Given the description of an element on the screen output the (x, y) to click on. 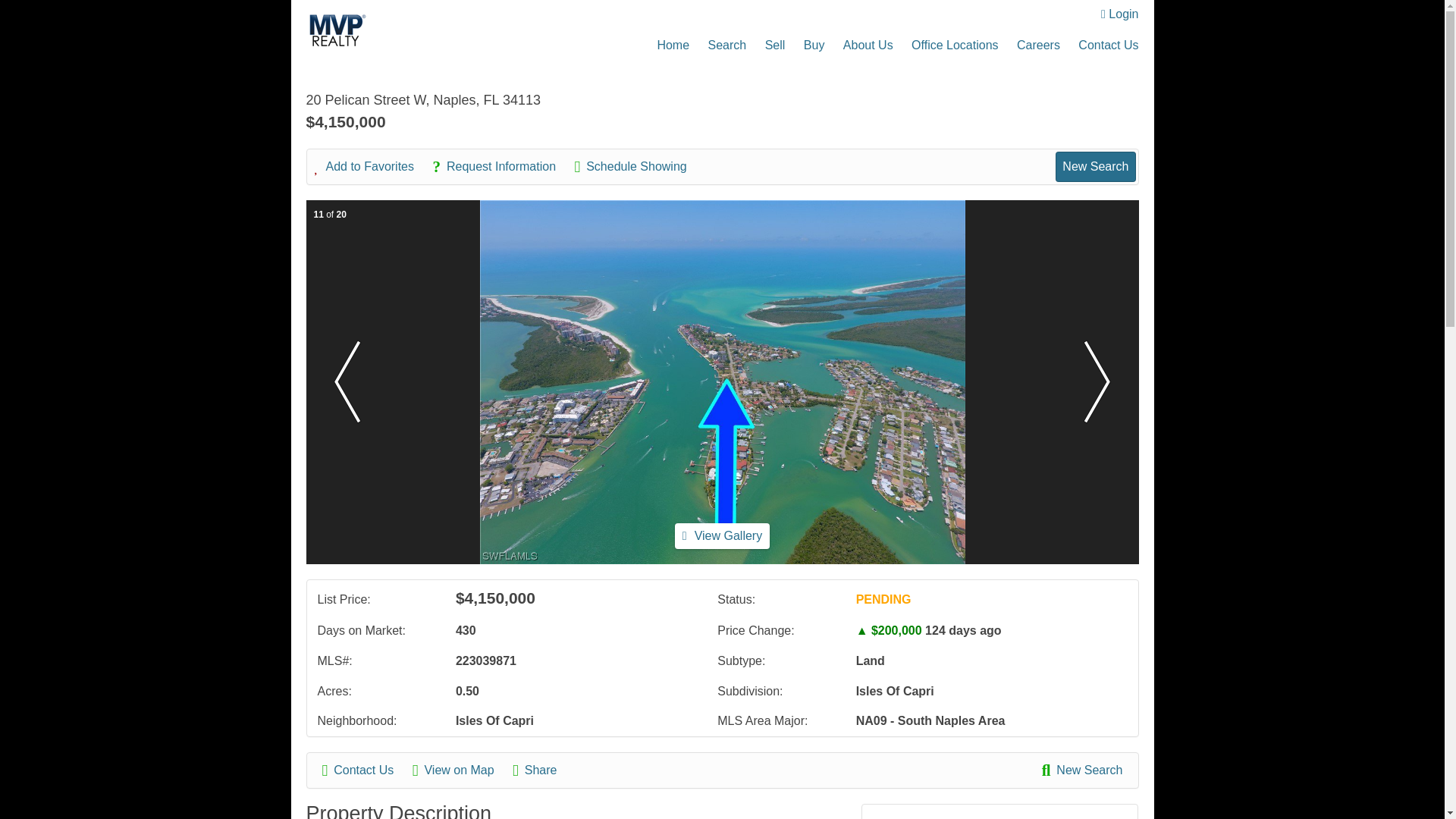
Contact Us (1108, 44)
Sell (775, 44)
New Search (1082, 770)
Search (726, 44)
Office Locations (954, 44)
Add to Favorites (371, 166)
Home (672, 44)
View on Map (460, 770)
About Us (868, 44)
Request Information (501, 166)
Buy (814, 44)
Careers (1037, 44)
New Search (1095, 166)
View Gallery (722, 535)
Share (542, 770)
